Given the description of an element on the screen output the (x, y) to click on. 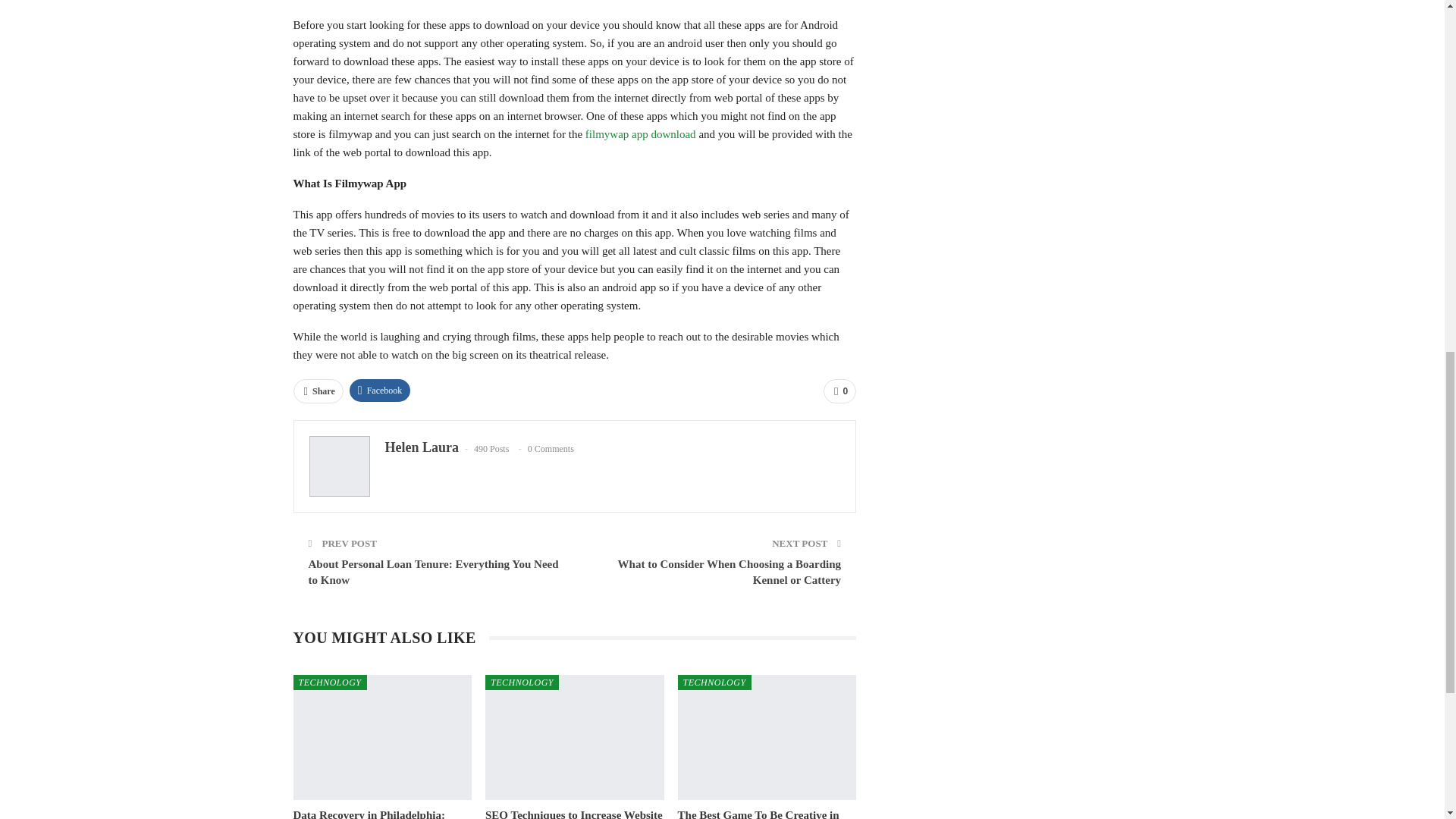
TECHNOLOGY (521, 682)
Helen Laura (422, 447)
SEO Techniques to Increase Website Traffic (573, 814)
About Personal Loan Tenure: Everything You Need to Know (432, 571)
The Best Game To Be Creative in Making an Own World (767, 737)
What to Consider When Choosing a Boarding Kennel or Cattery (729, 571)
YOU MIGHT ALSO LIKE (389, 638)
SEO Techniques to Increase Website Traffic (573, 737)
0 (840, 391)
